Given the description of an element on the screen output the (x, y) to click on. 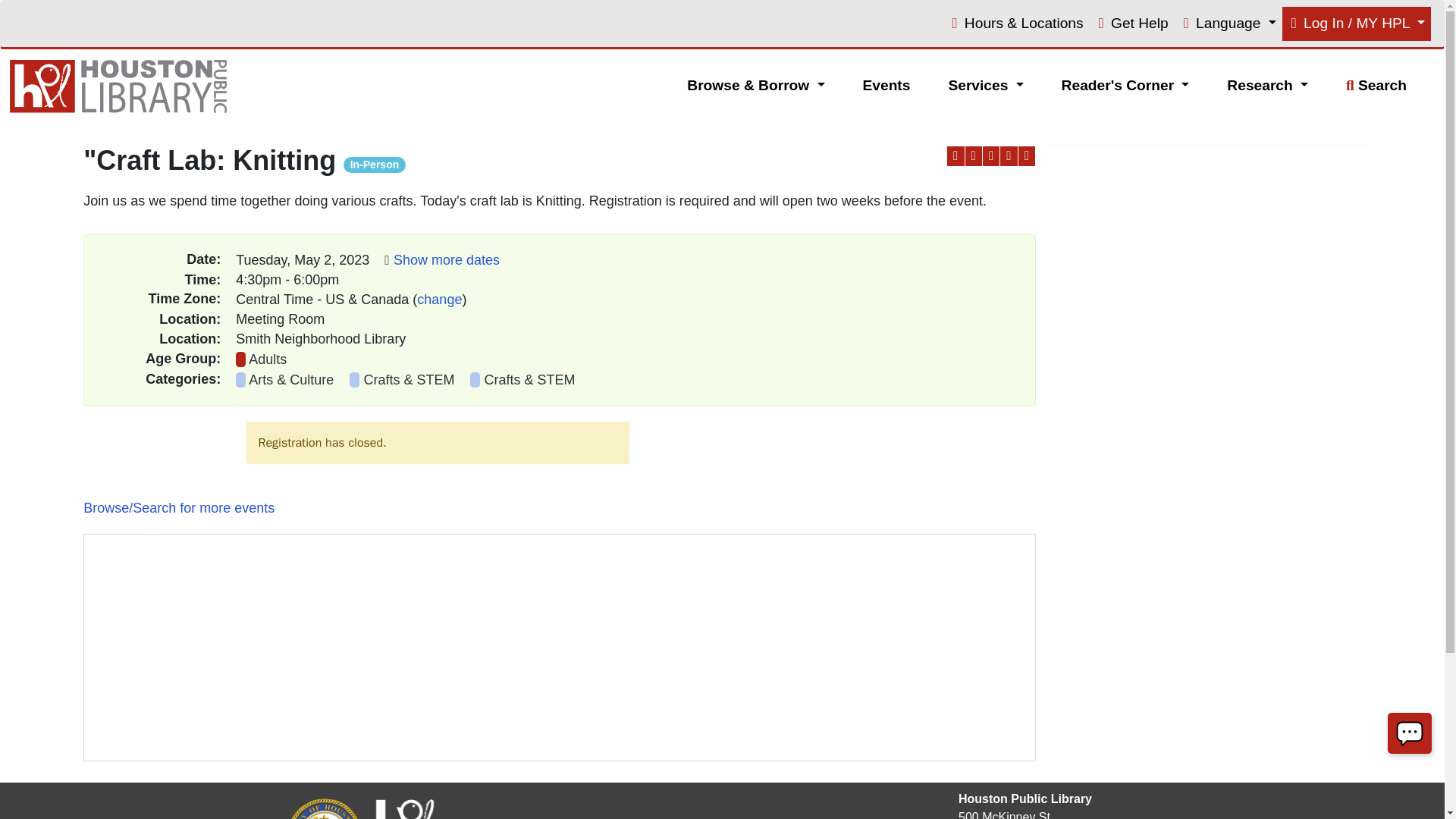
Events (887, 85)
Ask Us (1409, 733)
Reader's Corner (1125, 85)
Language (1228, 23)
Get Help (1131, 23)
Houston Public Library logo (122, 86)
Research (1267, 85)
Houston Public Library Logo (404, 808)
Services (985, 85)
